Given the description of an element on the screen output the (x, y) to click on. 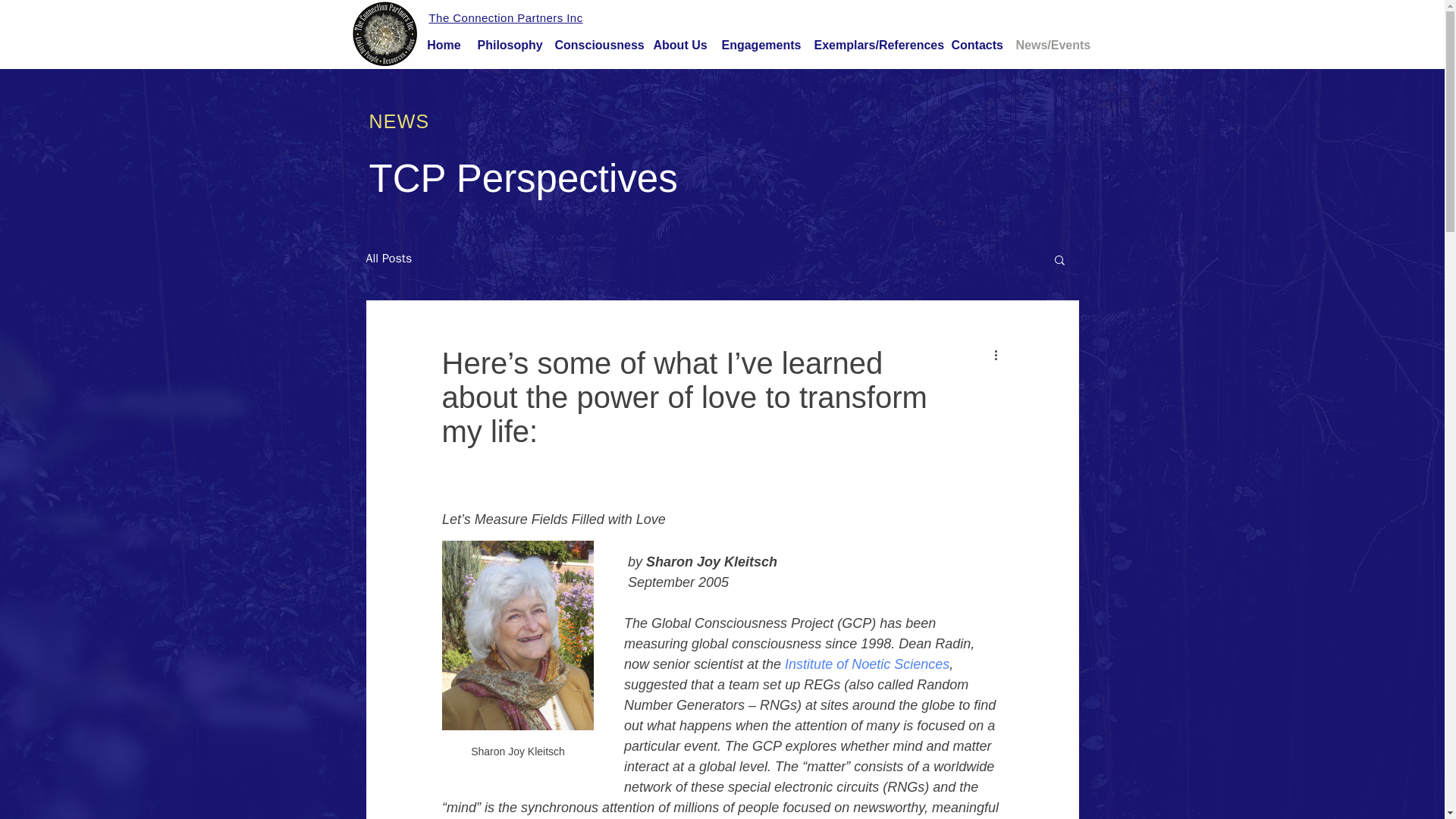
Philosophy (508, 44)
Engagements (760, 44)
Home (444, 44)
Consciousness (596, 44)
Institute of Noetic Sciences (866, 663)
Contacts (975, 44)
All Posts (388, 258)
The Connection Partners Inc (506, 17)
About Us (680, 44)
Aug 7, 2019 (515, 467)
